Given the description of an element on the screen output the (x, y) to click on. 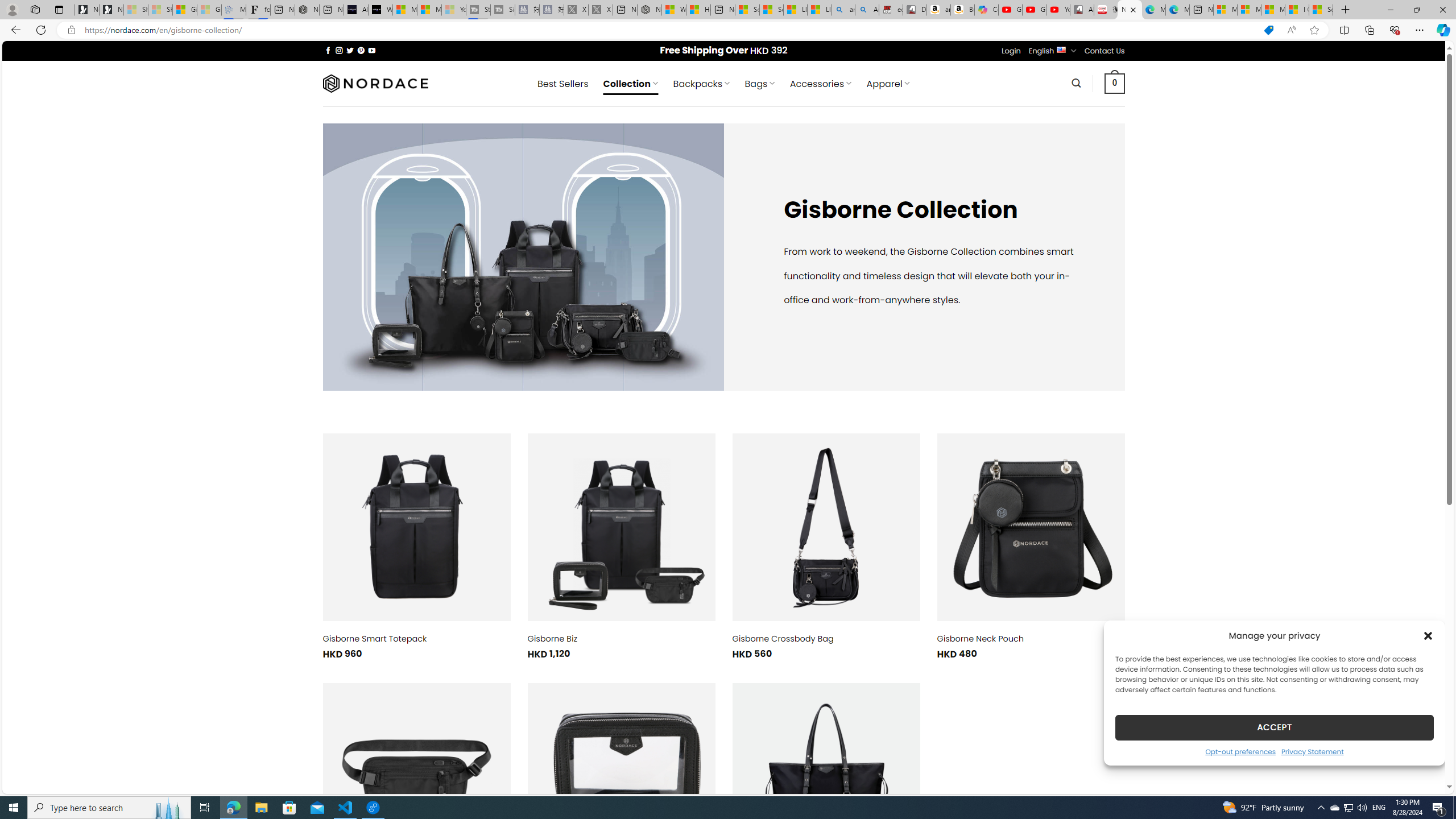
Nordace - Gisborne Collection (1129, 9)
English (1061, 49)
Class: cmplz-close (1428, 635)
